Given the description of an element on the screen output the (x, y) to click on. 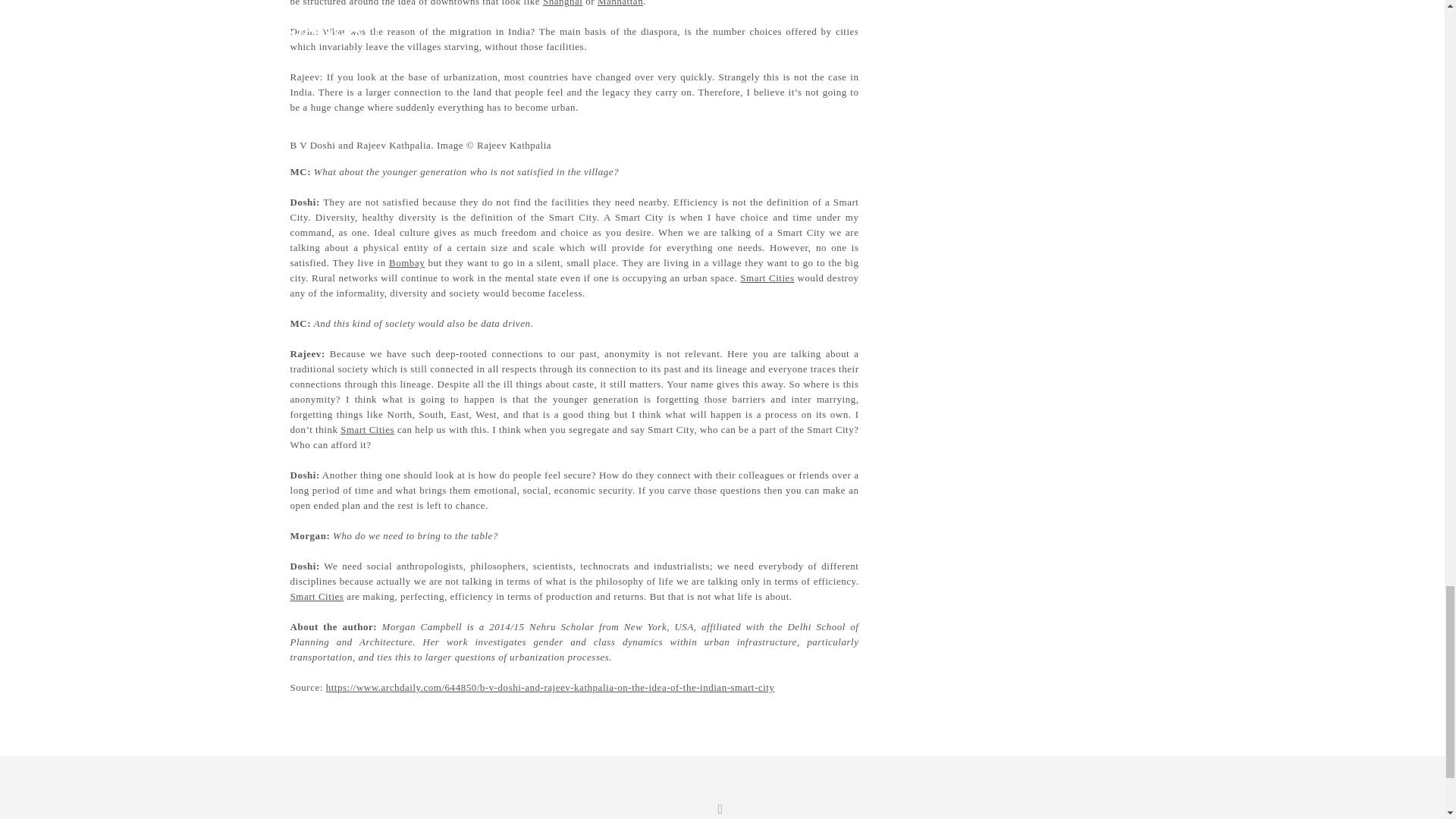
Smart Cities (766, 277)
Shanghai (563, 3)
Manhattan (619, 3)
Smart Cities (316, 595)
Bombay (406, 262)
Smart Cities (367, 429)
